Given the description of an element on the screen output the (x, y) to click on. 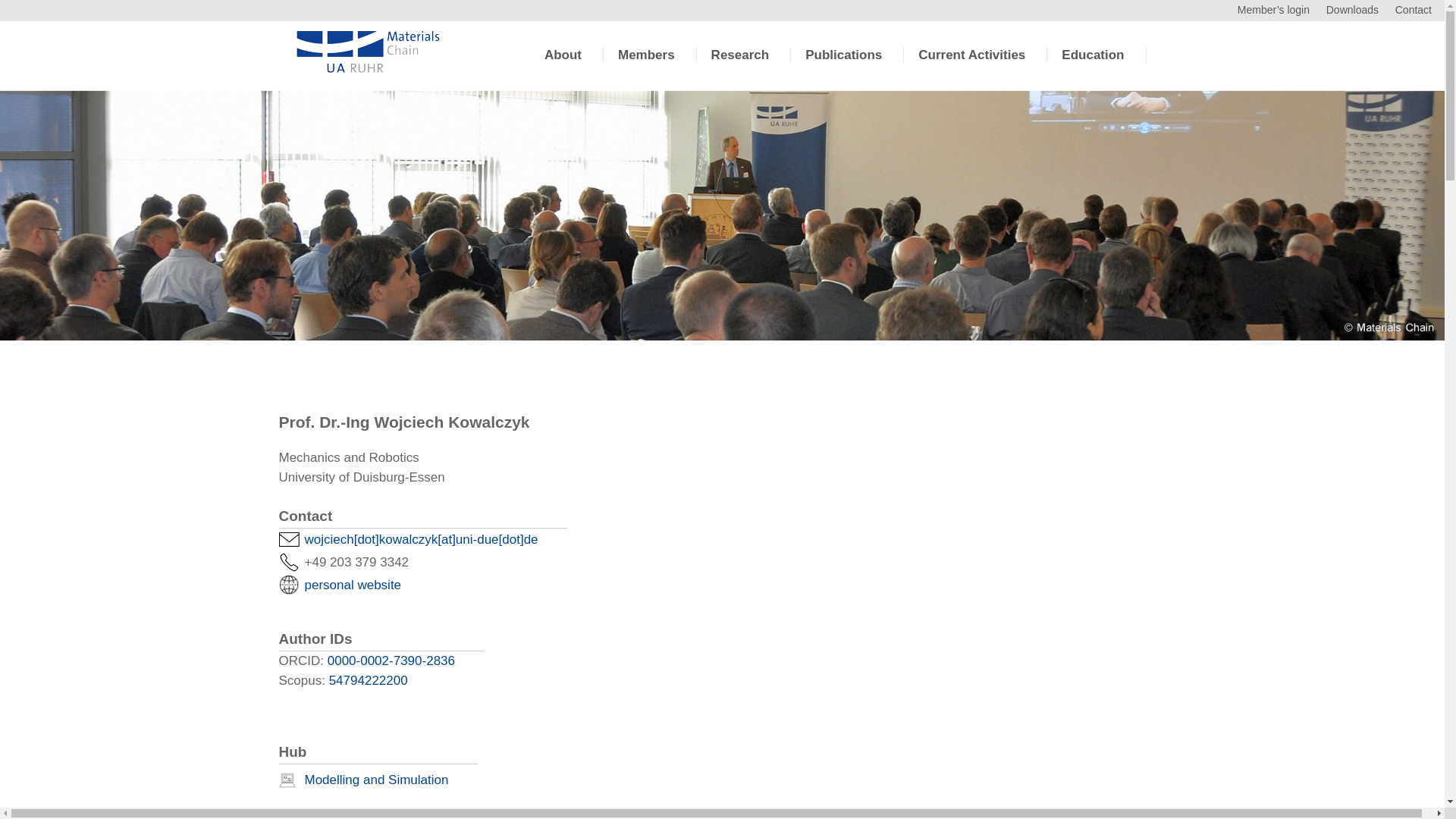
Research (740, 66)
Contact (1412, 9)
personal website (352, 585)
Current Activities (971, 66)
Education (1092, 66)
Modelling and Simulation (376, 780)
About (562, 66)
54794222200 (368, 680)
0000-0002-7390-2836 (390, 660)
Downloads (1352, 9)
Publications (843, 66)
Members (646, 66)
